Given the description of an element on the screen output the (x, y) to click on. 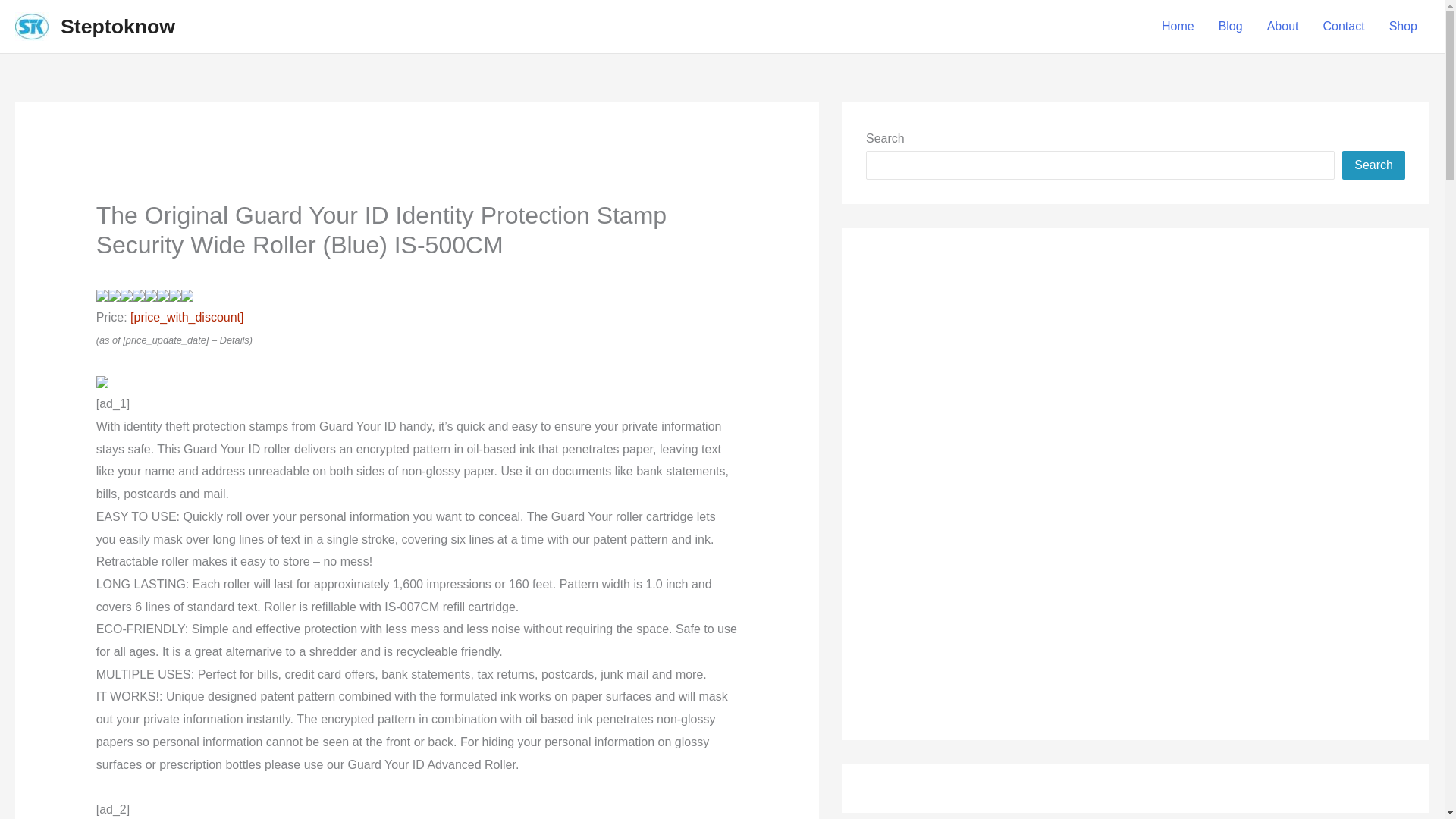
Home (1178, 26)
Contact (1342, 26)
Shop (1403, 26)
Steptoknow (117, 26)
About (1283, 26)
Blog (1231, 26)
